Given the description of an element on the screen output the (x, y) to click on. 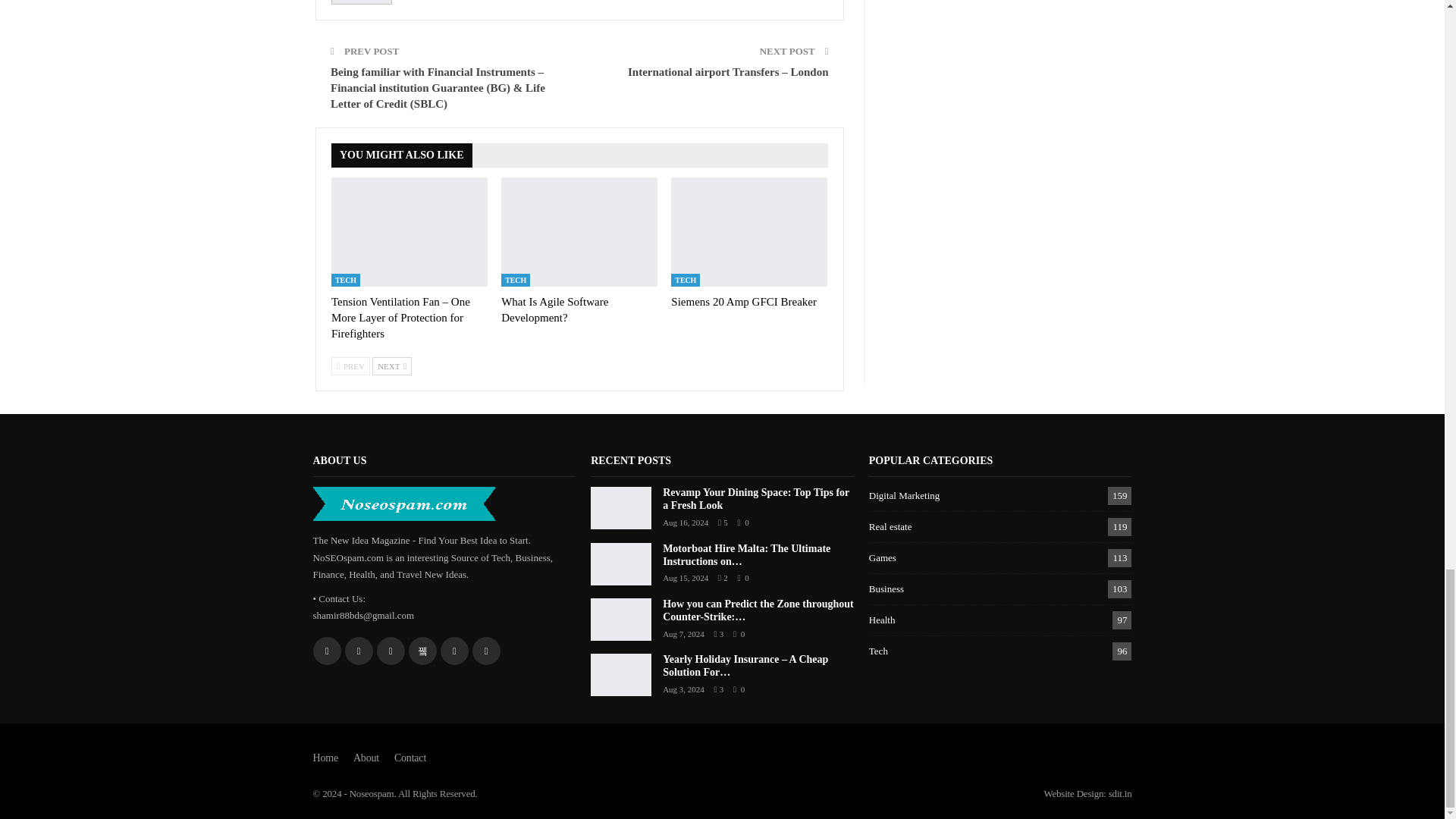
What Is Agile Software Development? (554, 309)
Next (392, 366)
Siemens 20 Amp GFCI Breaker (743, 301)
Previous (350, 366)
Siemens 20 Amp GFCI Breaker (749, 231)
What Is Agile Software Development? (579, 231)
